Given the description of an element on the screen output the (x, y) to click on. 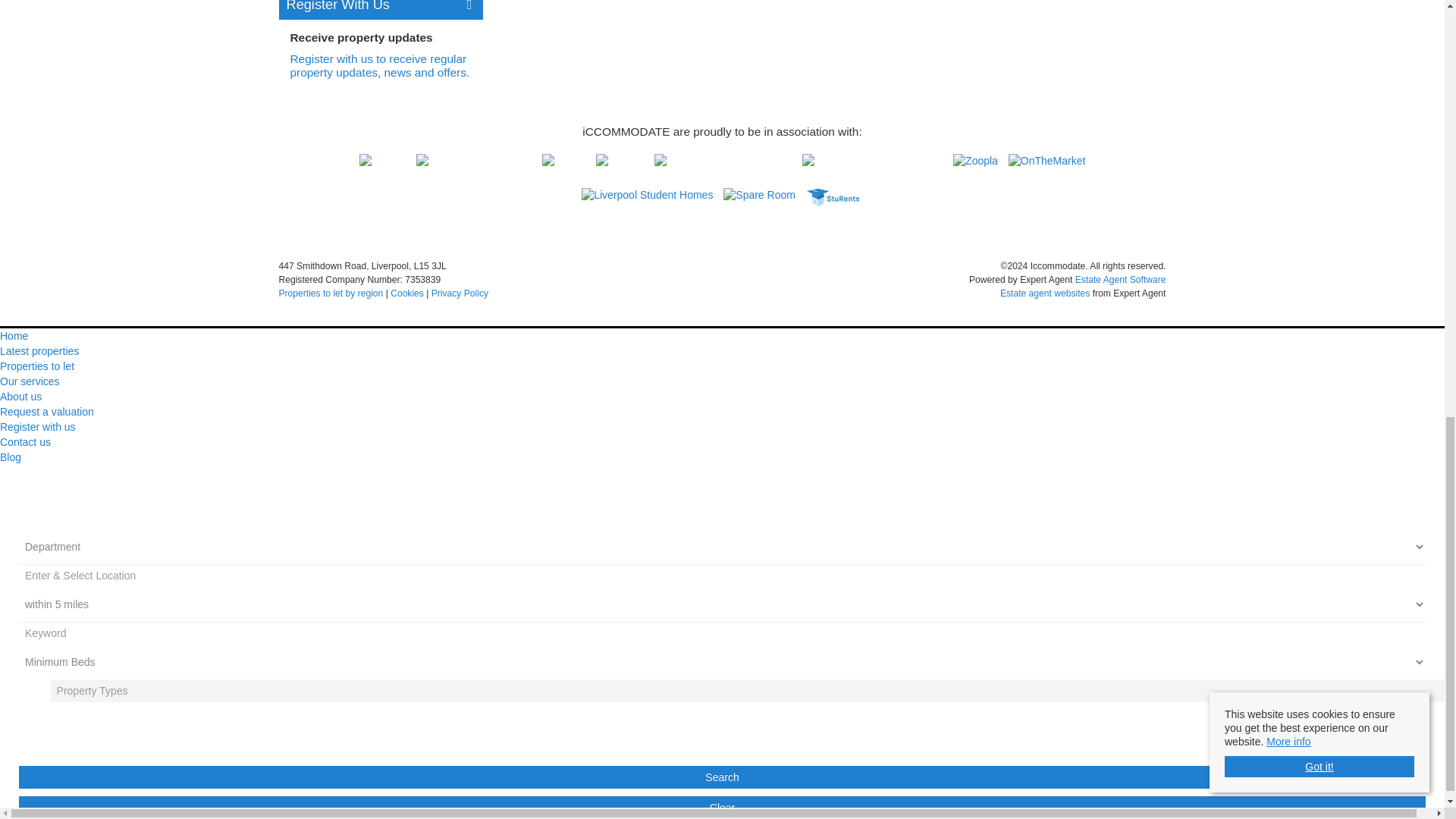
Properties to let by region (331, 293)
Estate Agent Software (1120, 279)
Cookies (406, 293)
Privacy Policy (458, 293)
Estate agent websites (1044, 293)
